Given the description of an element on the screen output the (x, y) to click on. 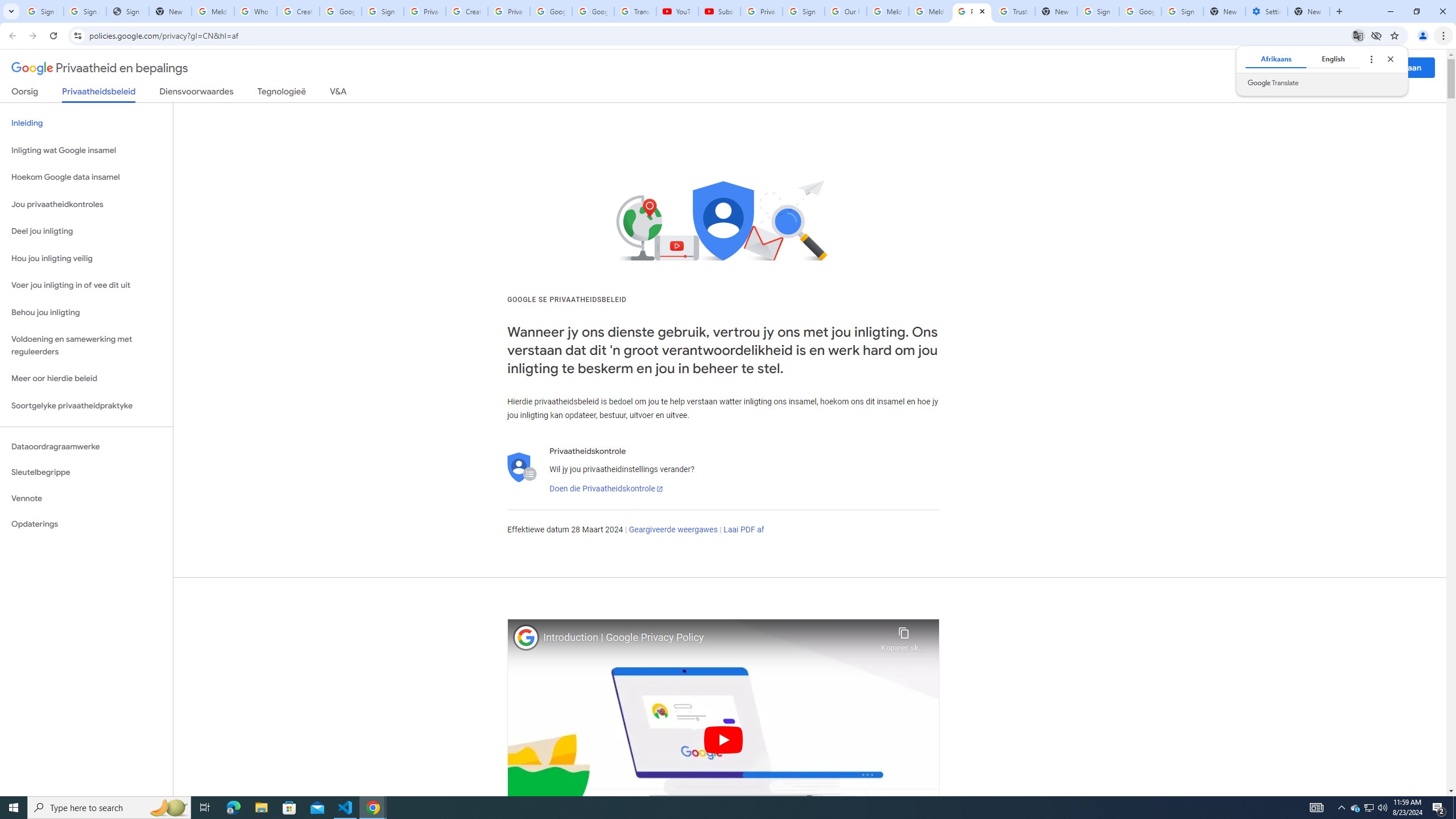
Inligting wat Google insamel (86, 150)
Translate this page (1358, 35)
V&A (337, 93)
New Tab (1224, 11)
Afrikaans (1275, 58)
Who is my administrator? - Google Account Help (255, 11)
